Given the description of an element on the screen output the (x, y) to click on. 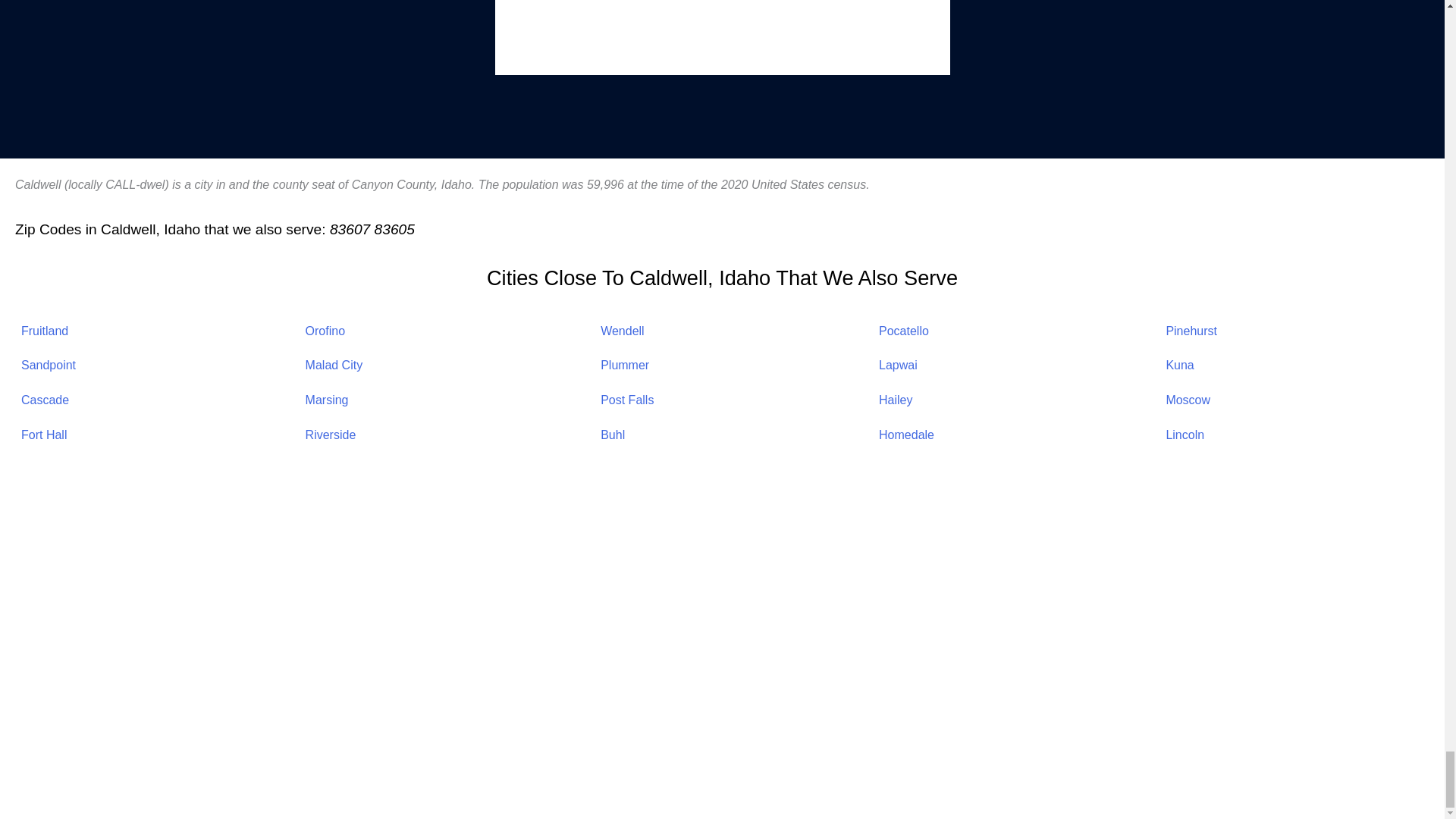
Plummer (624, 364)
Orofino (325, 330)
Pinehurst (1191, 330)
Pocatello (903, 330)
Malad City (333, 364)
Wendell (622, 330)
Fruitland (44, 330)
Sandpoint (48, 364)
